Given the description of an element on the screen output the (x, y) to click on. 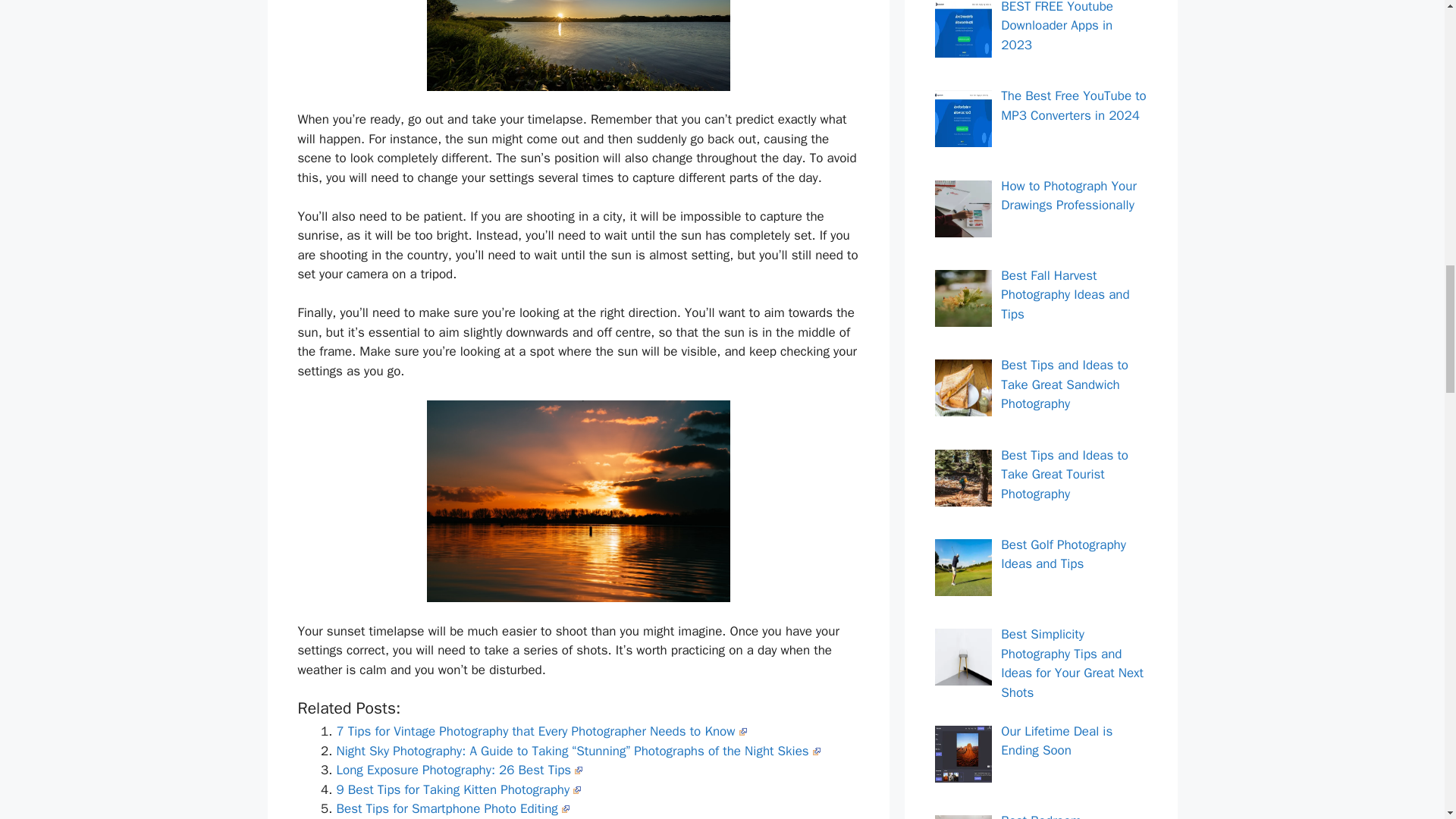
Best Fall Harvest Photography Ideas and Tips (1065, 294)
Best Tips for Smartphone Photo Editing (452, 808)
Best Tips and Ideas to Take Great Tourist Photography (1064, 474)
How to Photograph Your Drawings Professionally (1069, 195)
Sunset Timelapse (577, 501)
Sunset Timelapse (577, 45)
Long Exposure Photography: 26 Best Tips (459, 770)
Best Golf Photography Ideas and Tips (1063, 554)
9 Best Tips for Taking Kitten Photography (458, 789)
The Best Free YouTube to MP3 Converters in 2024 (1074, 105)
Our Lifetime Deal is Ending Soon (1056, 741)
Best Tips and Ideas to Take Great Sandwich Photography (1064, 384)
BEST FREE Youtube Downloader Apps in 2023 (1057, 26)
